Given the description of an element on the screen output the (x, y) to click on. 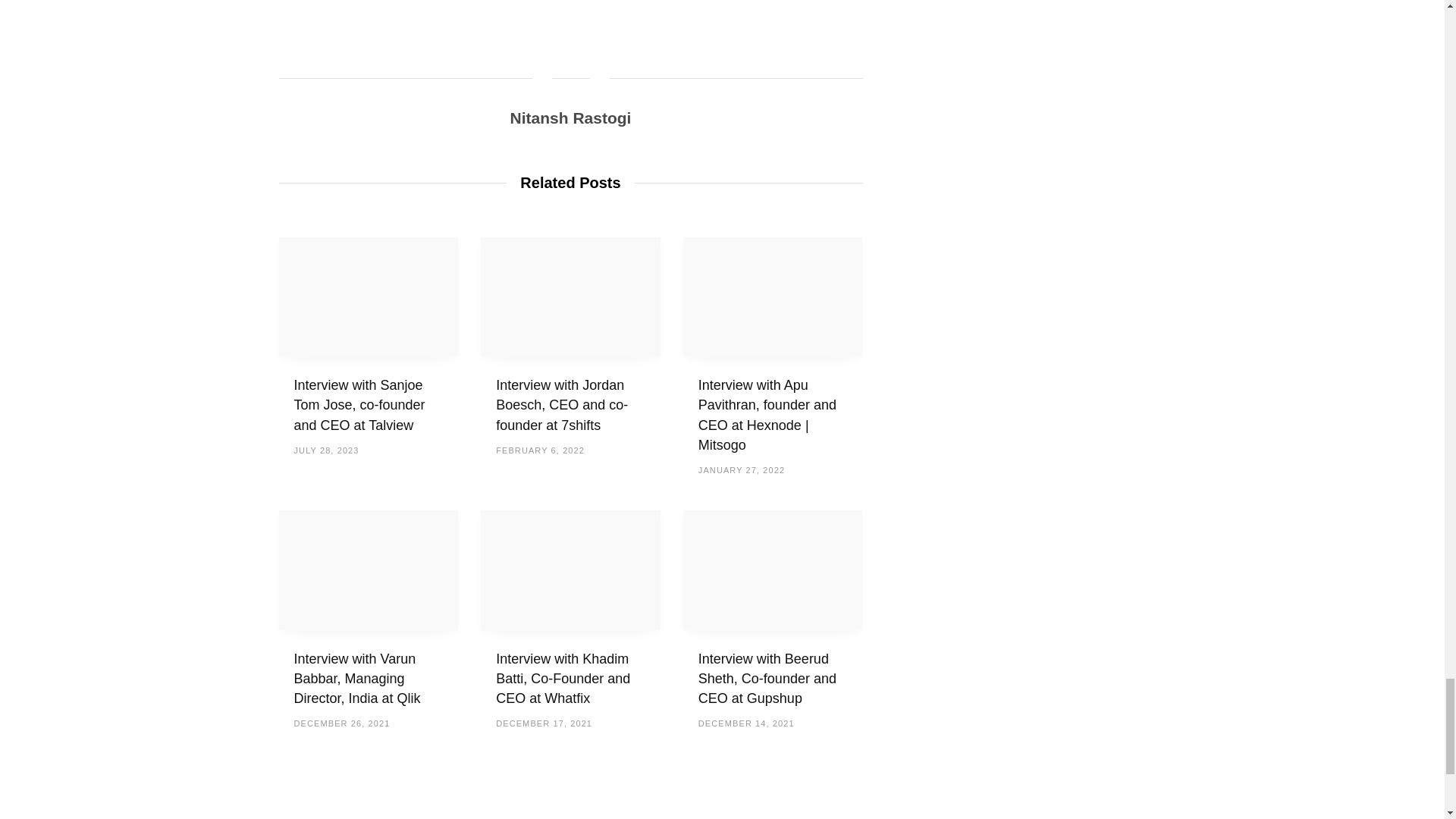
Interview with Jordan Boesch, CEO and co-founder at 7shifts (570, 297)
Nitansh Rastogi (571, 117)
Posts by Nitansh Rastogi (571, 117)
